Given the description of an element on the screen output the (x, y) to click on. 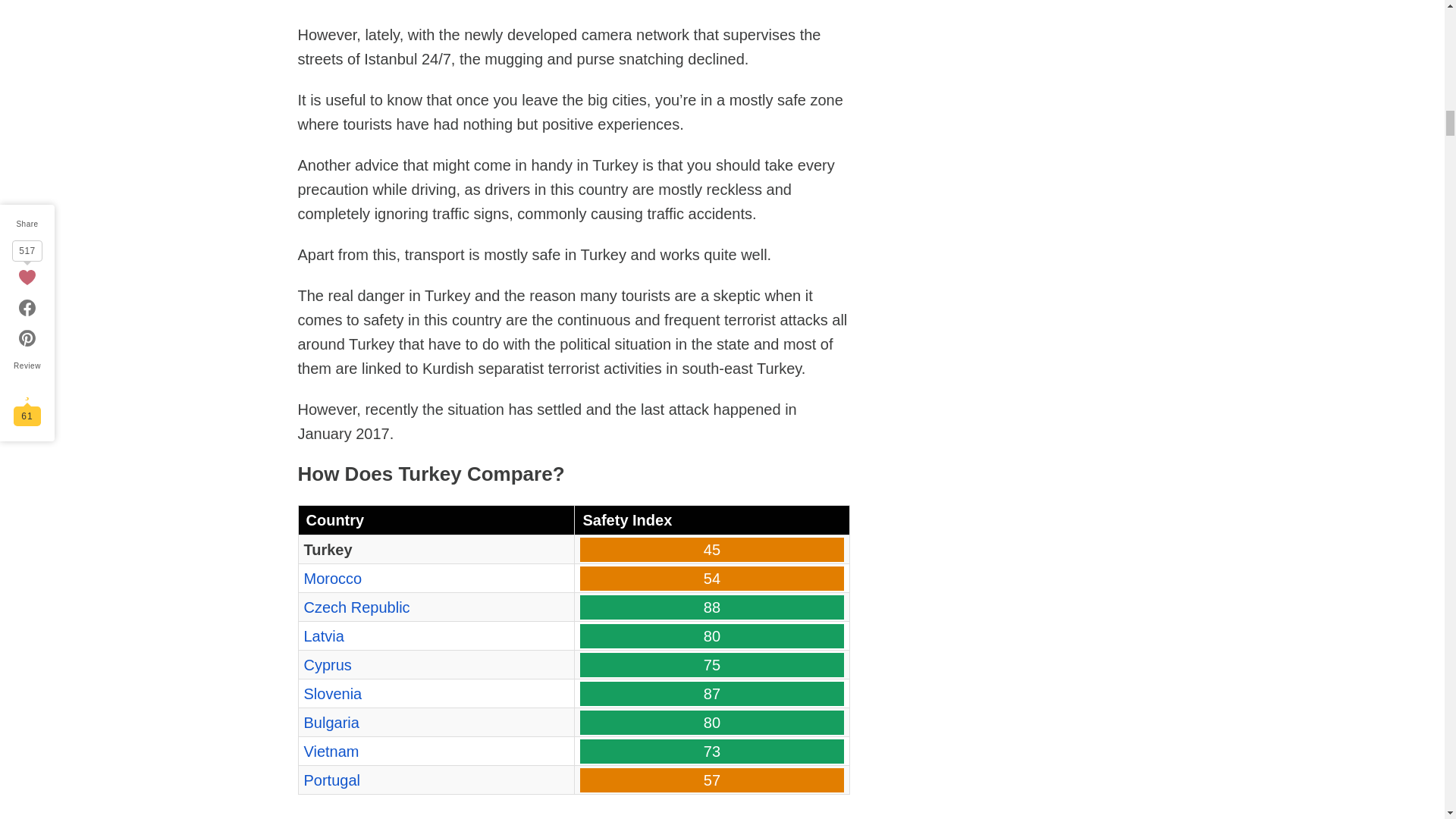
Czech Republic (355, 606)
Morocco (331, 578)
Vietnam Safety Review (330, 751)
Cyprus Safety Review (326, 664)
Cyprus (326, 664)
Slovenia Safety Review (331, 693)
Bulgaria (330, 722)
Vietnam (330, 751)
Bulgaria Safety Review (330, 722)
Morocco Safety Review (331, 578)
Latvia (322, 636)
Latvia Safety Review (322, 636)
Portugal (330, 780)
Czech Republic Safety Review (355, 606)
Slovenia (331, 693)
